Given the description of an element on the screen output the (x, y) to click on. 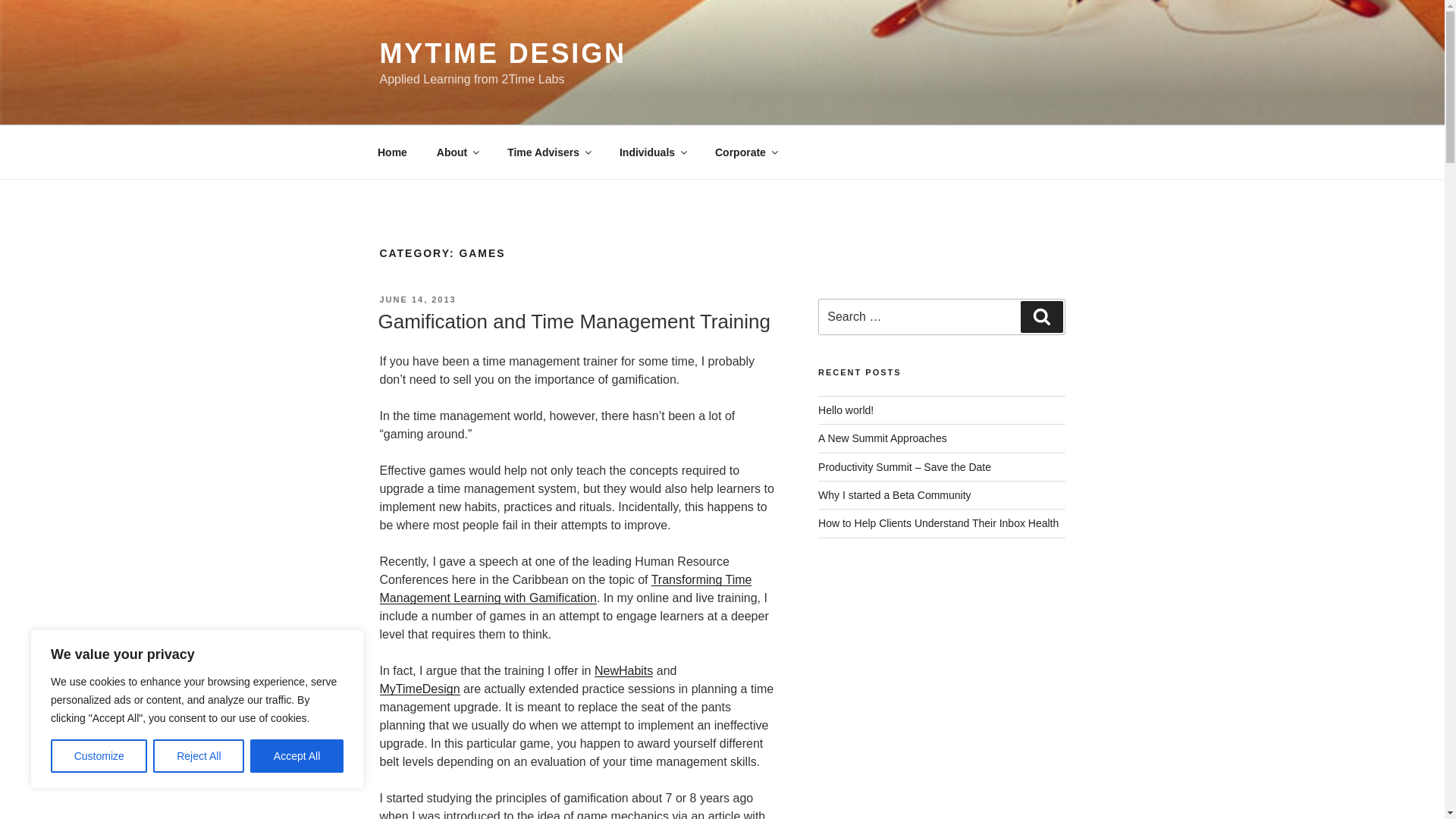
Reject All (198, 756)
Transforming Time Management Learning with Gamification (564, 588)
MYTIME DESIGN (502, 52)
Accept All (296, 756)
About (456, 151)
Individuals (651, 151)
Gamification and Time Management Training (573, 321)
Home (392, 151)
Customize (98, 756)
Corporate (745, 151)
